Given the description of an element on the screen output the (x, y) to click on. 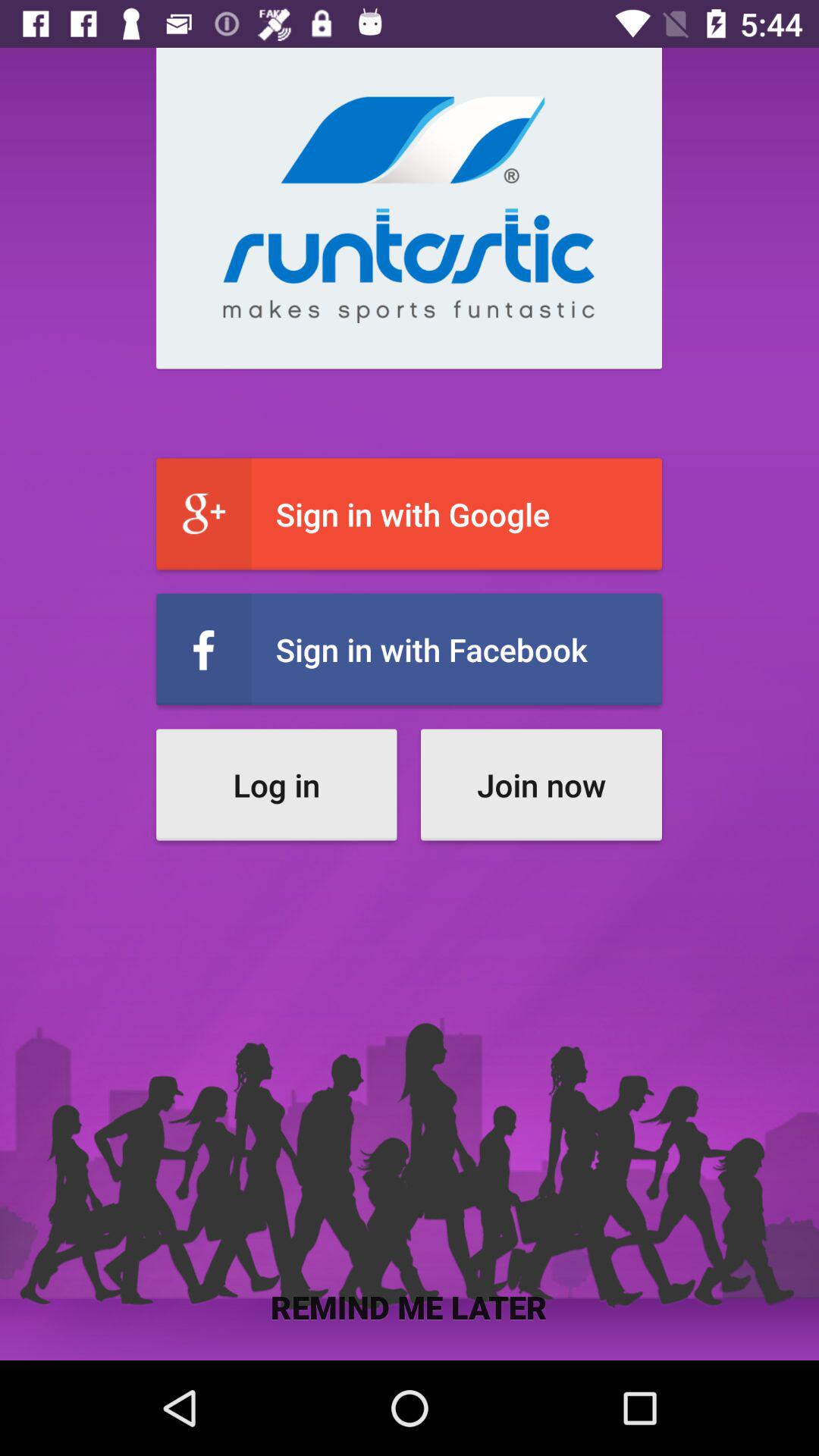
choose the item below the log in button (409, 1306)
